Given the description of an element on the screen output the (x, y) to click on. 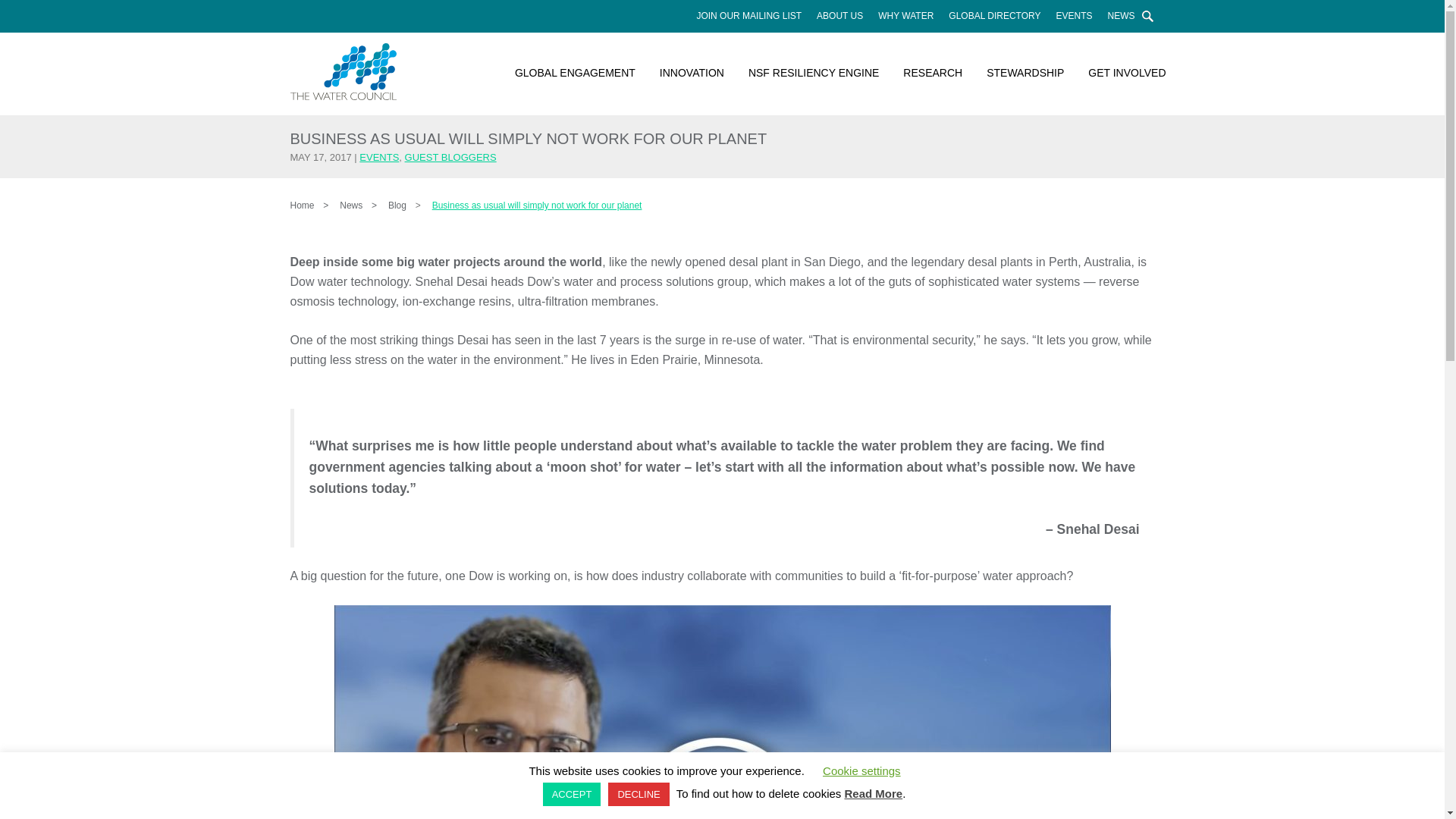
ABOUT US (839, 15)
GET INVOLVED (1120, 72)
EVENTS (1073, 15)
WHY WATER (905, 15)
NEWS (1120, 15)
JOIN OUR MAILING LIST (748, 15)
RESEARCH (932, 72)
INNOVATION (691, 72)
NSF RESILIENCY ENGINE (813, 72)
GLOBAL DIRECTORY (994, 15)
STEWARDSHIP (1024, 72)
GLOBAL ENGAGEMENT (574, 72)
